Given the description of an element on the screen output the (x, y) to click on. 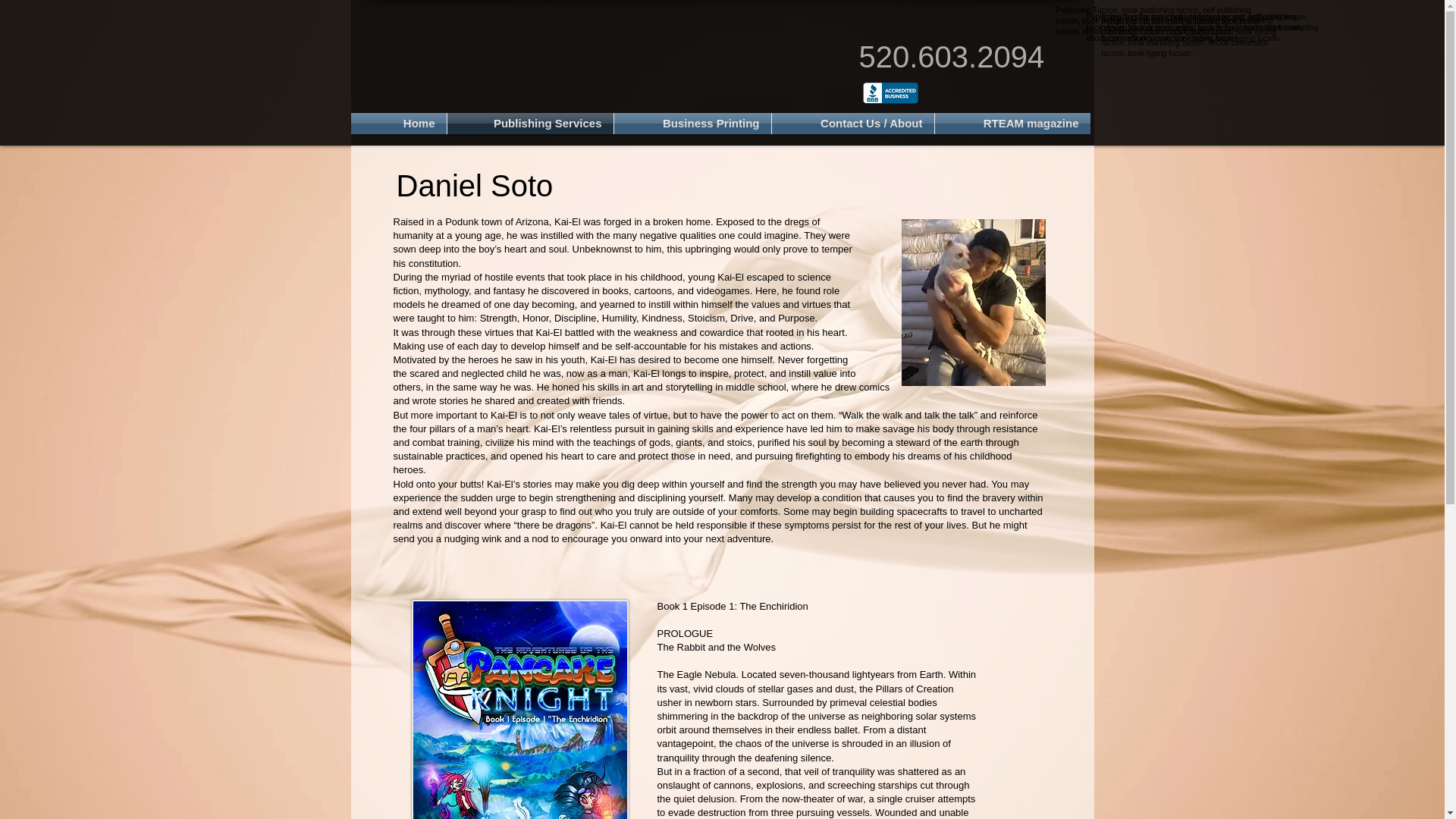
Home (397, 123)
Publishing Services (529, 123)
Business Printing (692, 123)
RTEAM magazine (1011, 123)
